Given the description of an element on the screen output the (x, y) to click on. 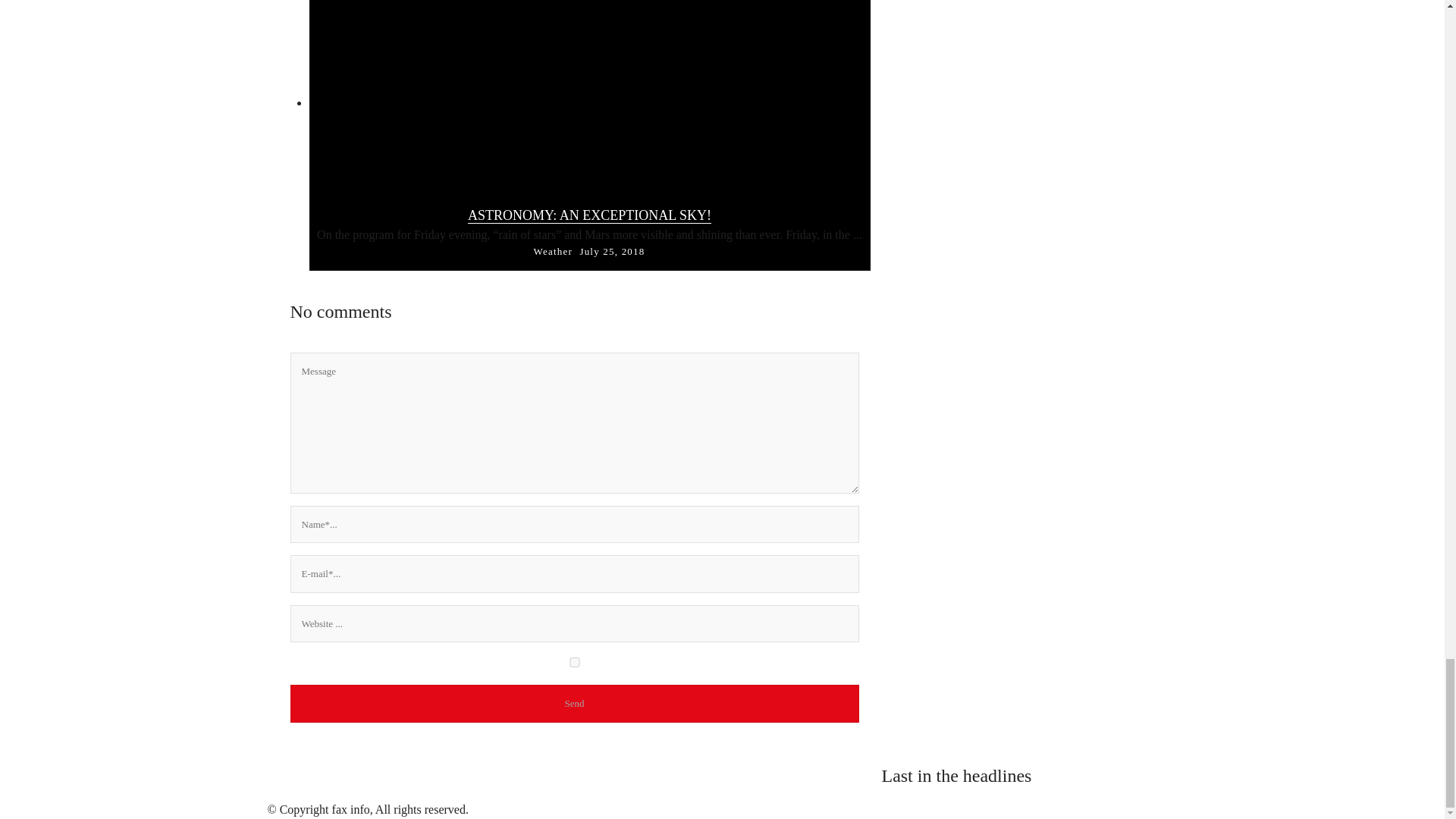
Send (574, 703)
yes (574, 662)
